Given the description of an element on the screen output the (x, y) to click on. 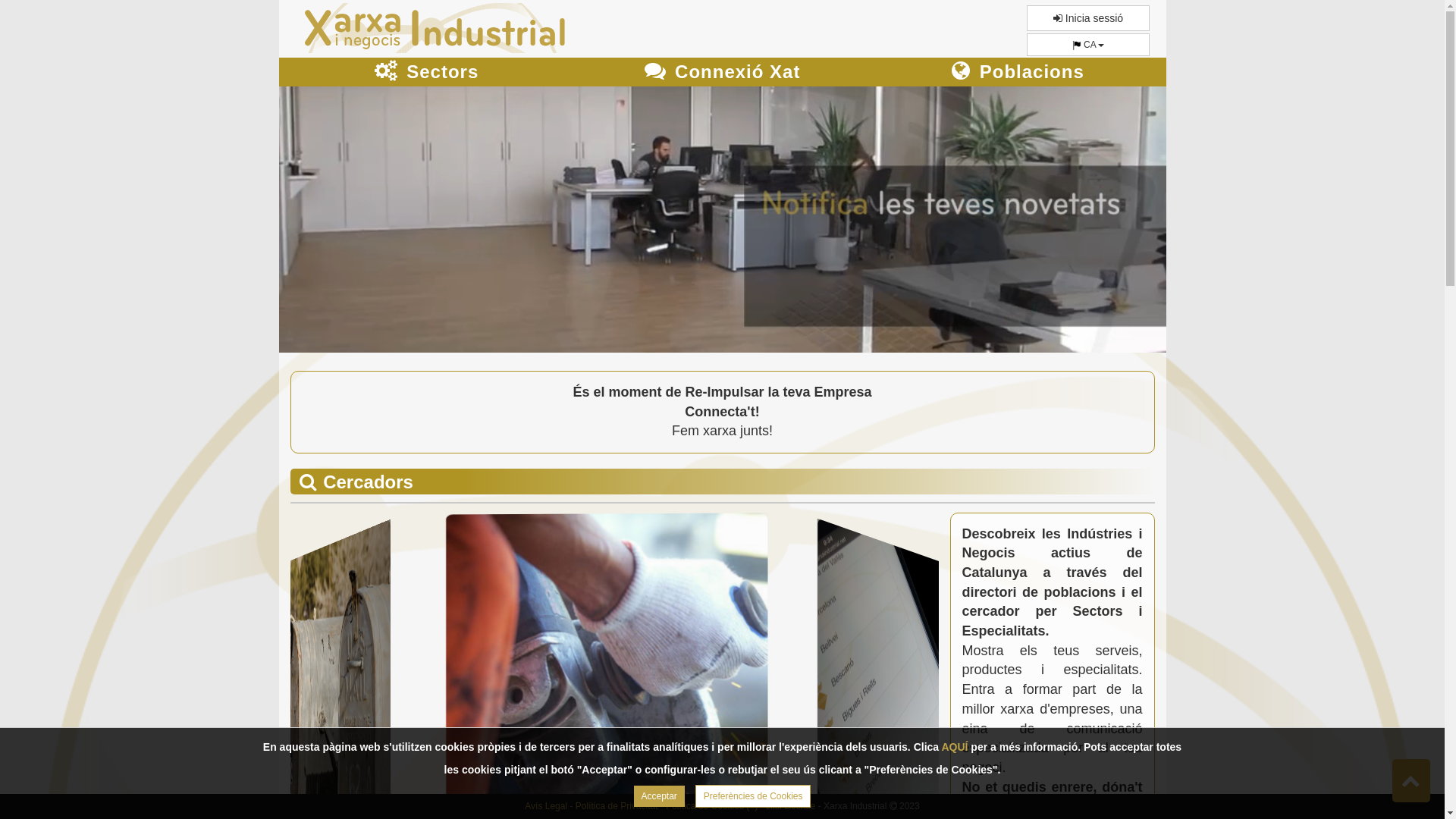
  Poblacions Element type: text (1018, 71)
Jitsi License Element type: text (790, 805)
  Sectors Element type: text (426, 74)
 CA  Element type: text (1087, 44)
  Poblacions Element type: text (1017, 74)
  Sectors Element type: text (426, 71)
(+) Element type: text (751, 805)
Acceptar Element type: text (658, 795)
